Given the description of an element on the screen output the (x, y) to click on. 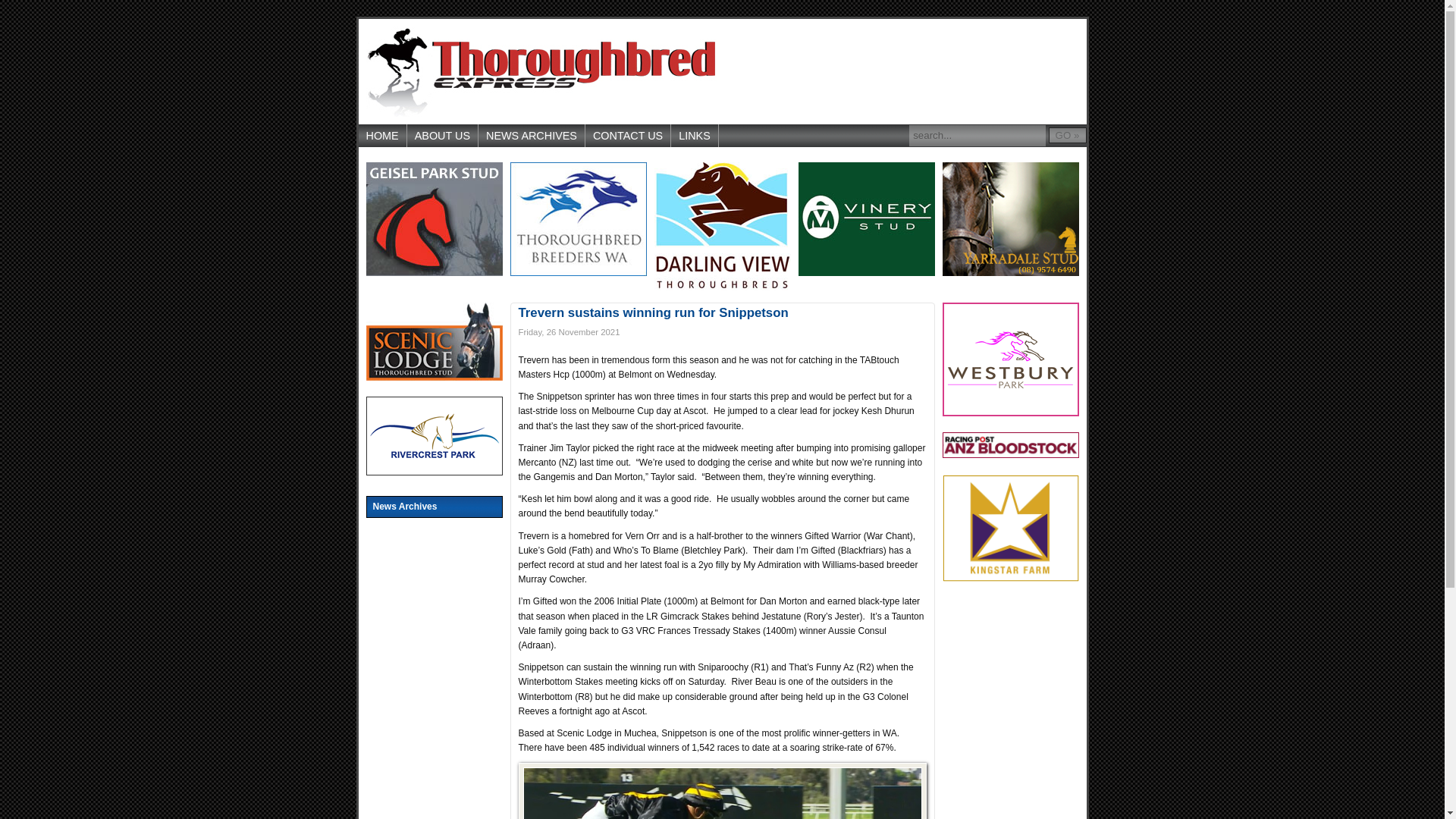
LINKS (695, 135)
Thoroughbred Express (540, 71)
NEWS ARCHIVES (532, 135)
HOME (382, 135)
search... (976, 135)
CONTACT US (628, 135)
News Archives (433, 506)
ABOUT US (443, 135)
Thoroughbred Express (540, 71)
